Given the description of an element on the screen output the (x, y) to click on. 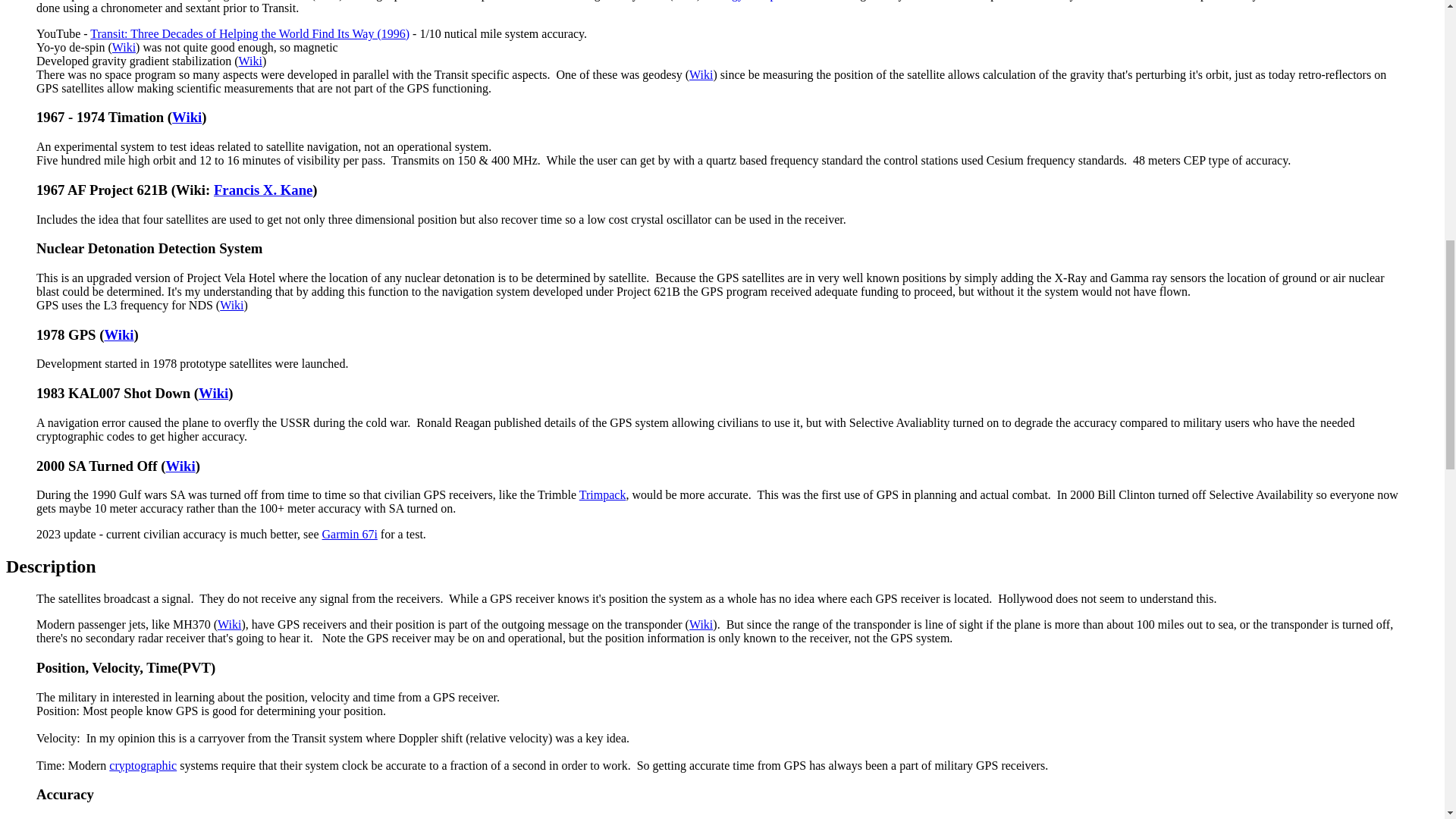
Wiki (213, 392)
Wiki (180, 465)
gyroscopes (759, 0)
Wiki (700, 74)
Wiki (231, 305)
Wiki (250, 60)
Wiki (118, 334)
Francis X. Kane (263, 189)
Wiki (186, 116)
Wiki (123, 47)
